Given the description of an element on the screen output the (x, y) to click on. 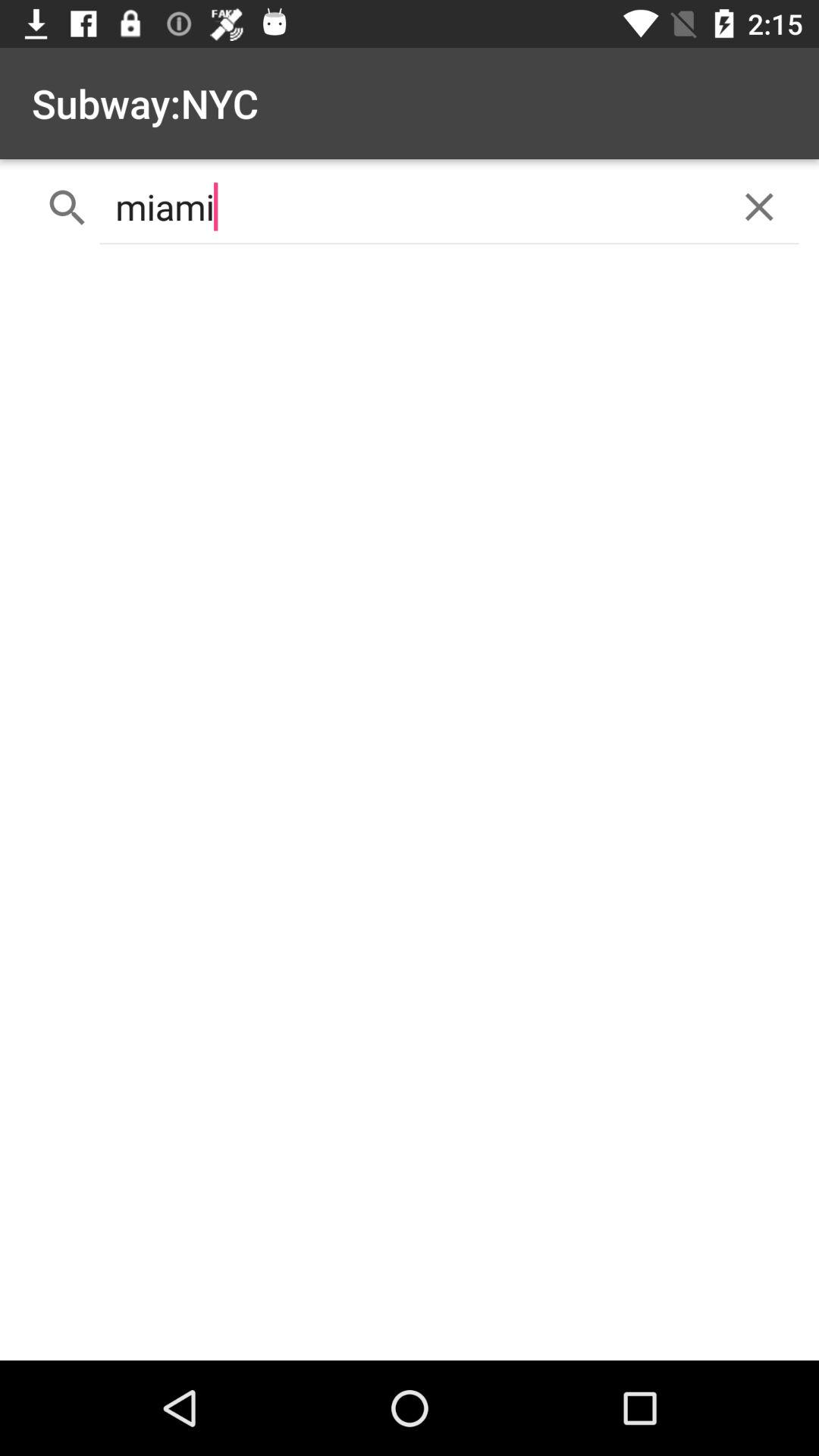
turn on icon below the subway:nyc item (409, 206)
